Given the description of an element on the screen output the (x, y) to click on. 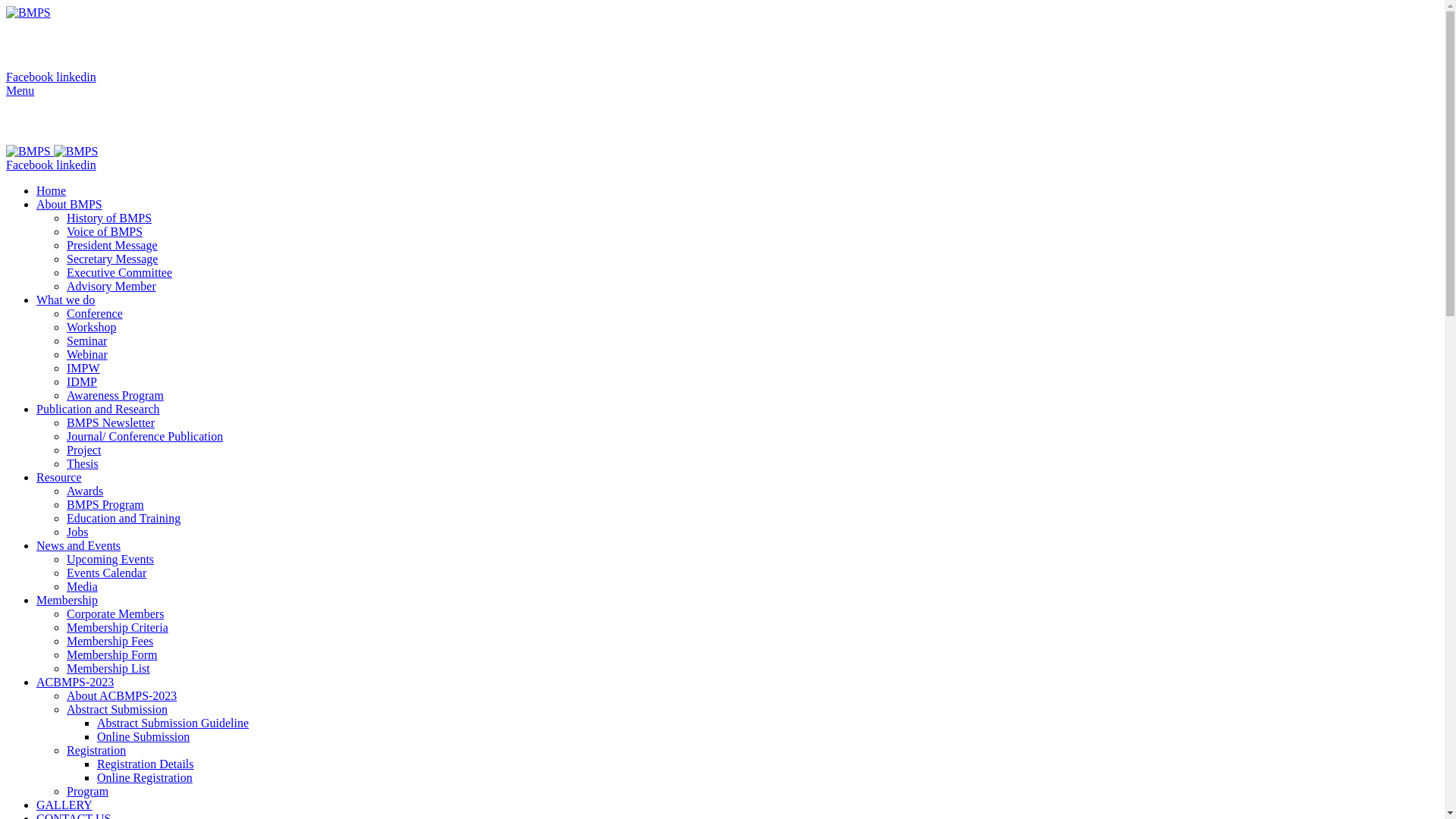
History of BMPS Element type: text (108, 217)
BMPS Newsletter Element type: text (110, 422)
Membership Fees Element type: text (109, 640)
Facebook Element type: text (31, 76)
Journal/ Conference Publication Element type: text (144, 435)
Membership Element type: text (66, 599)
Online Submission Element type: text (143, 736)
IDMP Element type: text (81, 381)
Advisory Member Element type: text (111, 285)
News and Events Element type: text (78, 545)
Events Calendar Element type: text (106, 572)
Membership List Element type: text (108, 668)
Conference Element type: text (94, 313)
Upcoming Events Element type: text (109, 558)
Executive Committee Element type: text (119, 272)
Project Element type: text (83, 449)
GALLERY Element type: text (64, 804)
About ACBMPS-2023 Element type: text (121, 695)
Resource Element type: text (58, 476)
Webinar Element type: text (86, 354)
Awareness Program Element type: text (114, 395)
Membership Criteria Element type: text (117, 627)
Facebook Element type: text (31, 164)
Registration Element type: text (95, 749)
Education and Training Element type: text (123, 517)
Jobs Element type: text (76, 531)
Online Registration Element type: text (144, 777)
Voice of BMPS Element type: text (104, 231)
Seminar Element type: text (86, 340)
Secretary Message Element type: text (111, 258)
About BMPS Element type: text (69, 203)
Media Element type: text (81, 586)
Workshop Element type: text (91, 326)
IMPW Element type: text (83, 367)
Thesis Element type: text (82, 463)
Menu Element type: text (20, 90)
Registration Details Element type: text (145, 763)
President Message Element type: text (111, 244)
linkedin Element type: text (75, 164)
Home Element type: text (50, 190)
Awards Element type: text (84, 490)
Abstract Submission Element type: text (116, 708)
Bangladesh Medical Physics Society (BMPS) Element type: text (721, 120)
Membership Form Element type: text (111, 654)
ACBMPS-2023 Element type: text (74, 681)
linkedin Element type: text (75, 76)
Program Element type: text (87, 790)
Abstract Submission Guideline Element type: text (172, 722)
Publication and Research Element type: text (98, 408)
BMPS Program Element type: text (105, 504)
Bangladesh Medical Physics Society (BMPS) Element type: text (179, 44)
Corporate Members Element type: text (114, 613)
What we do Element type: text (65, 299)
